Given the description of an element on the screen output the (x, y) to click on. 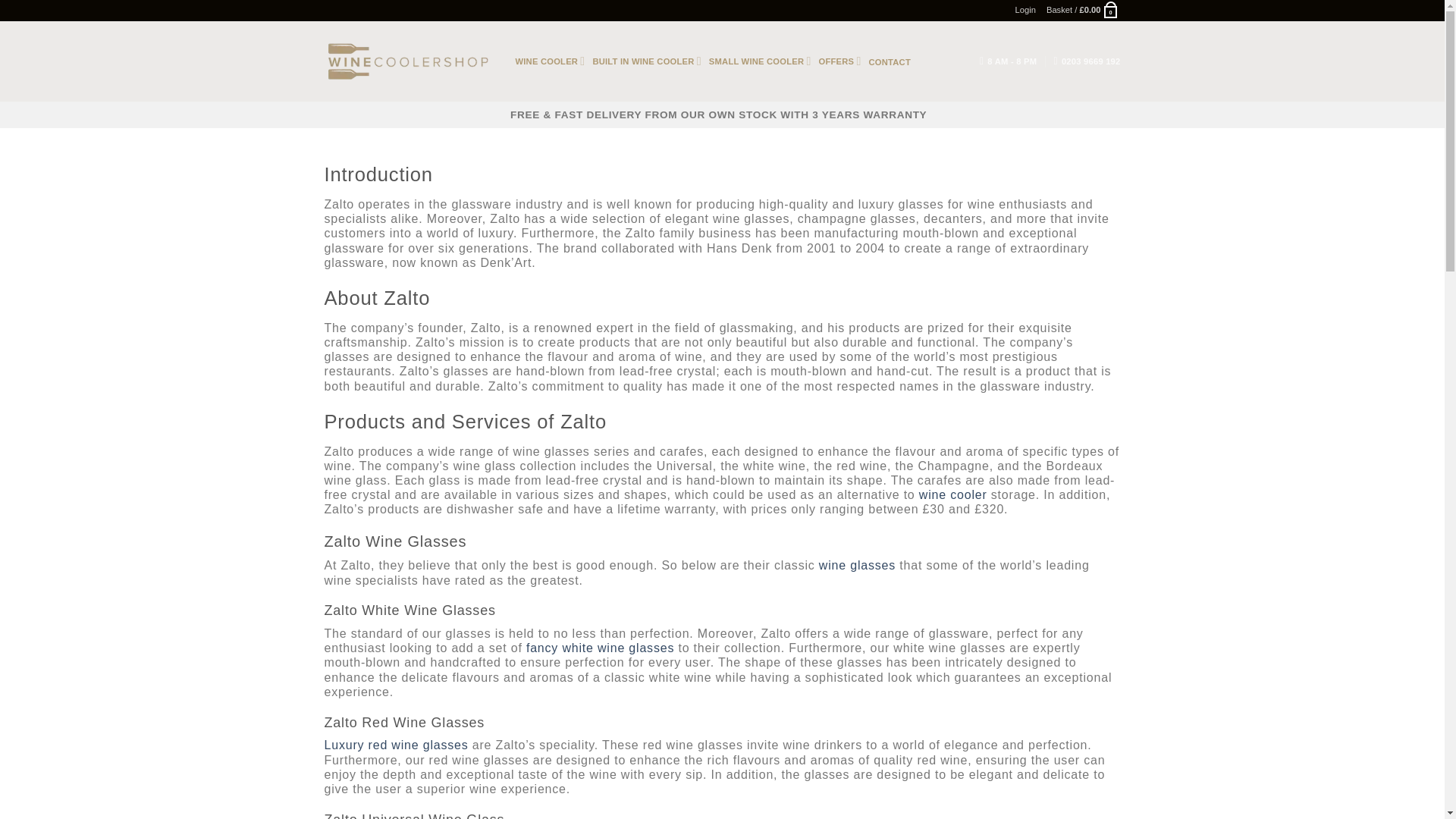
CONTACT (890, 62)
wine glasses (856, 564)
BUILT IN WINE COOLER (646, 60)
Login (1024, 10)
0203 9669 192 (1087, 61)
SMALL WINE COOLER (759, 60)
fancy white wine glasses (599, 647)
0203 9669 192 (1087, 61)
WINE COOLER (550, 60)
Luxury red wine glasses (396, 744)
